Given the description of an element on the screen output the (x, y) to click on. 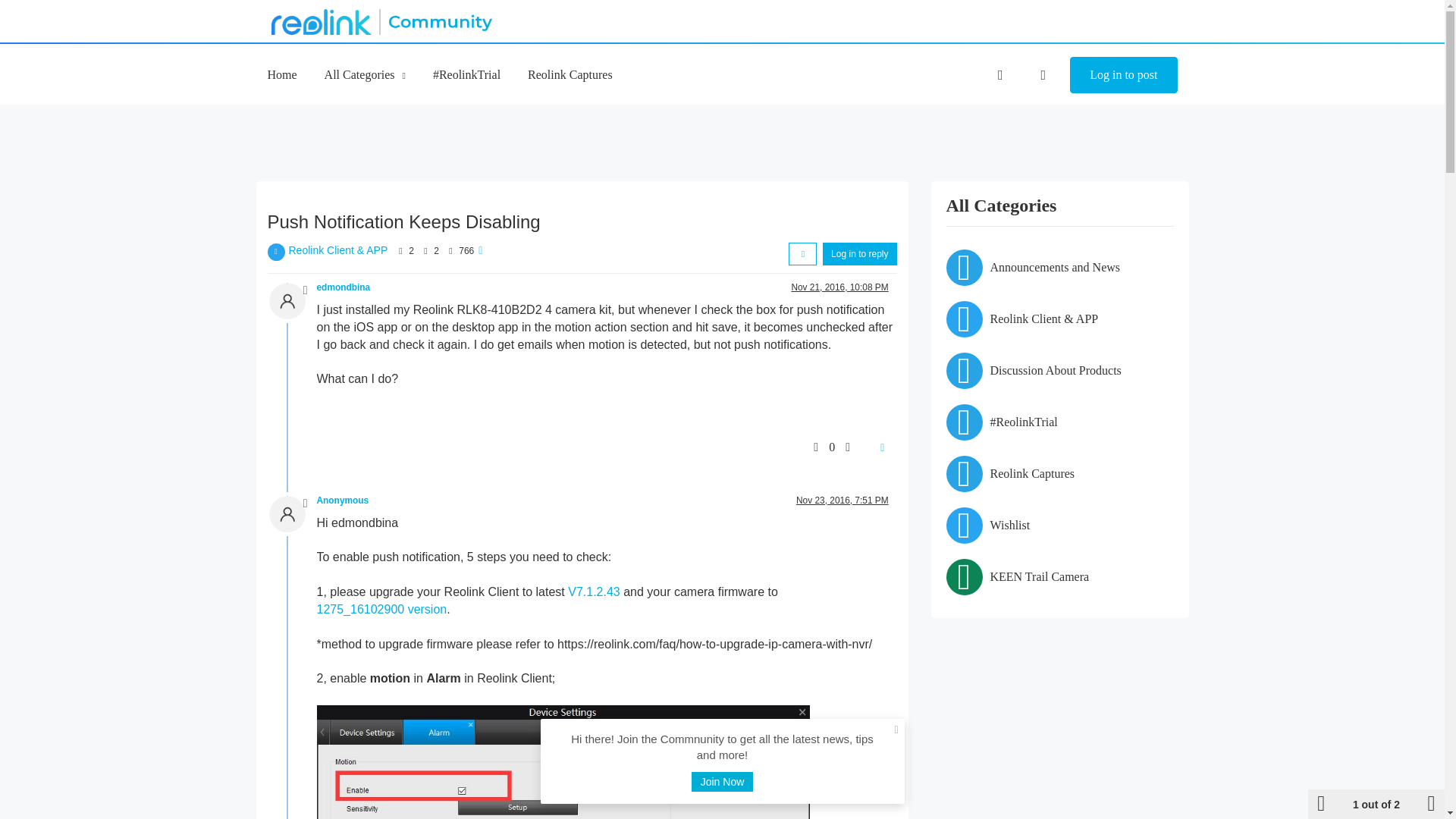
766 (466, 250)
Reolink Captures (569, 74)
Nov 21, 2016, 10:08 PM (839, 286)
Log in to reply (859, 253)
Posts (425, 250)
Nov 21, 2016, 10:08 PM (839, 286)
Log in to post (1123, 75)
All Categories (365, 74)
Views (451, 250)
edmondbina (344, 286)
